Given the description of an element on the screen output the (x, y) to click on. 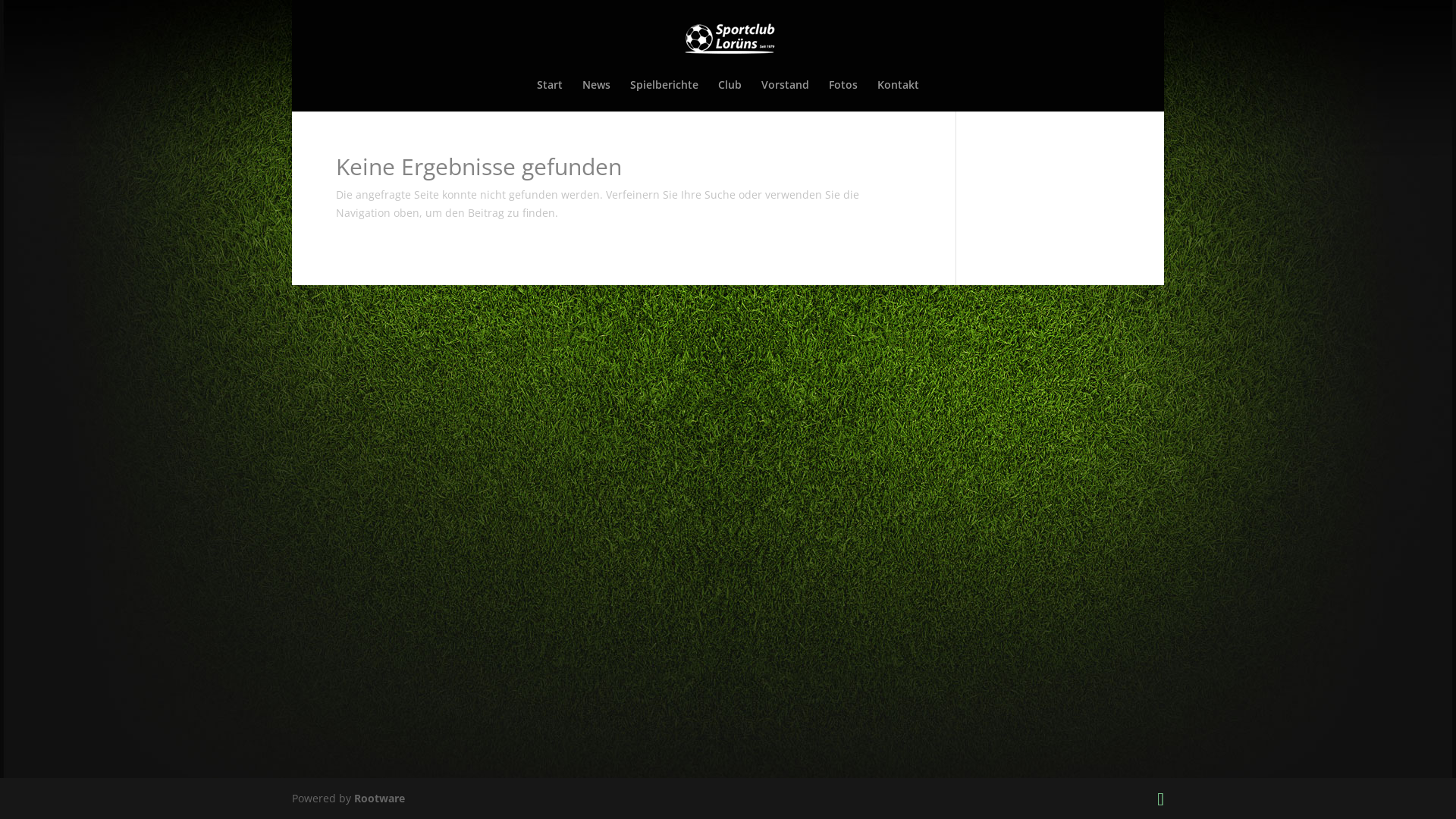
Fotos Element type: text (842, 95)
Vorstand Element type: text (785, 95)
Spielberichte Element type: text (664, 95)
Rootware Element type: text (379, 797)
Start Element type: text (549, 95)
Kontakt Element type: text (898, 95)
Club Element type: text (729, 95)
News Element type: text (596, 95)
